Given the description of an element on the screen output the (x, y) to click on. 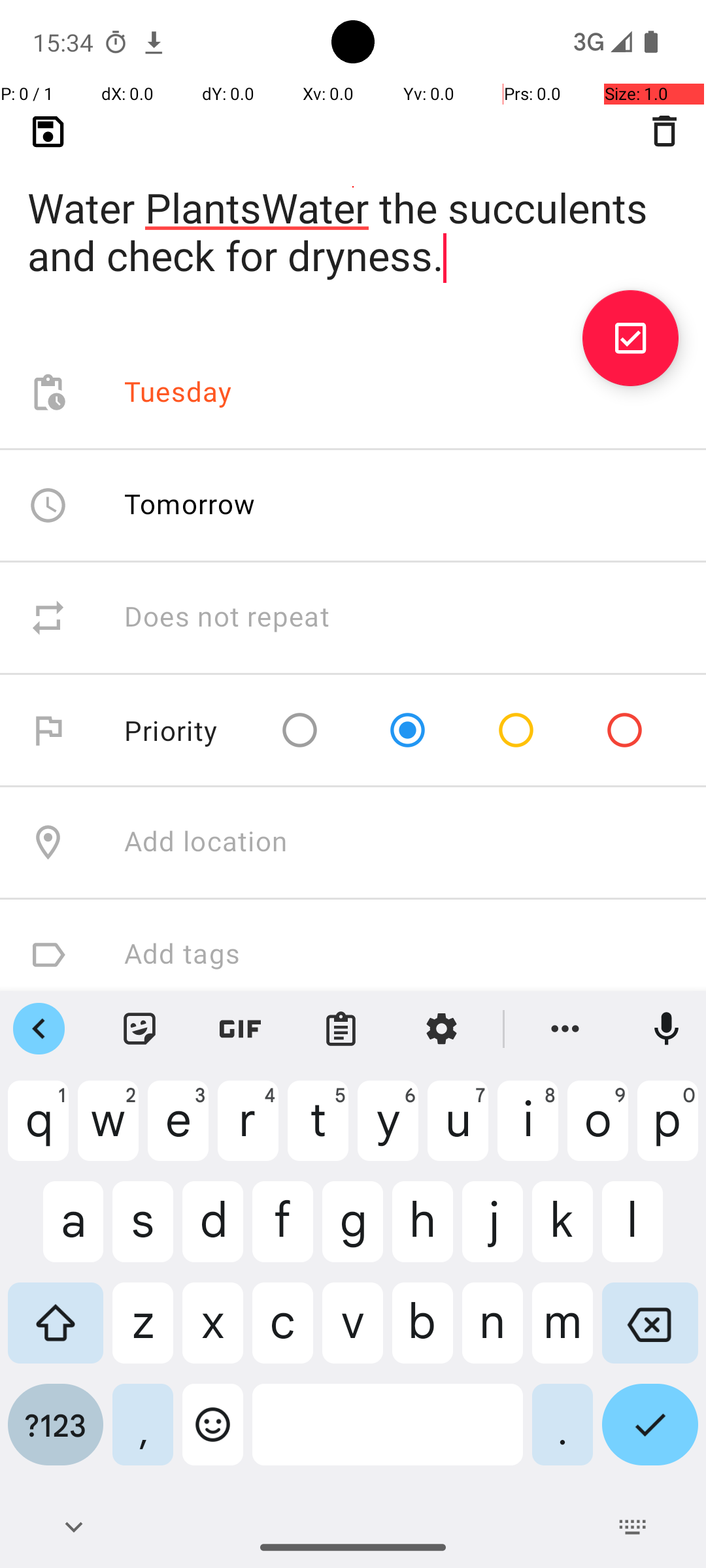
Water PlantsWater the succulents and check for dryness. Element type: android.widget.EditText (353, 210)
